Given the description of an element on the screen output the (x, y) to click on. 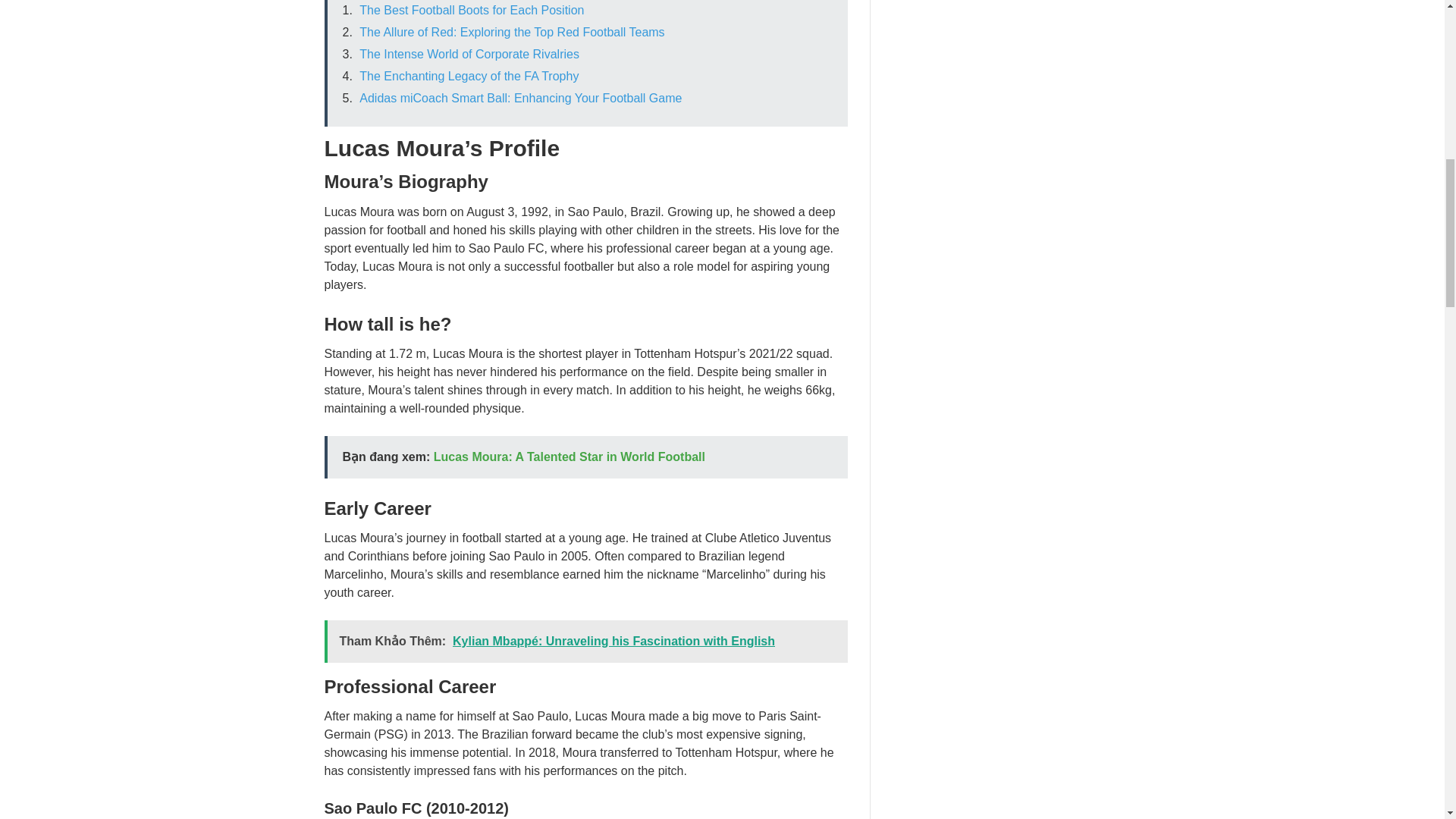
The Best Football Boots for Each Position (471, 10)
The Allure of Red: Exploring the Top Red Football Teams (511, 31)
The Intense World of Corporate Rivalries (469, 53)
Lucas Moura: A Talented Star in World Football (568, 456)
The Intense World of Corporate Rivalries (469, 53)
Adidas miCoach Smart Ball: Enhancing Your Football Game (520, 97)
The Enchanting Legacy of the FA Trophy (468, 75)
The Allure of Red: Exploring the Top Red Football Teams (511, 31)
The Best Football Boots for Each Position (471, 10)
Adidas miCoach Smart Ball: Enhancing Your Football Game (520, 97)
